Given the description of an element on the screen output the (x, y) to click on. 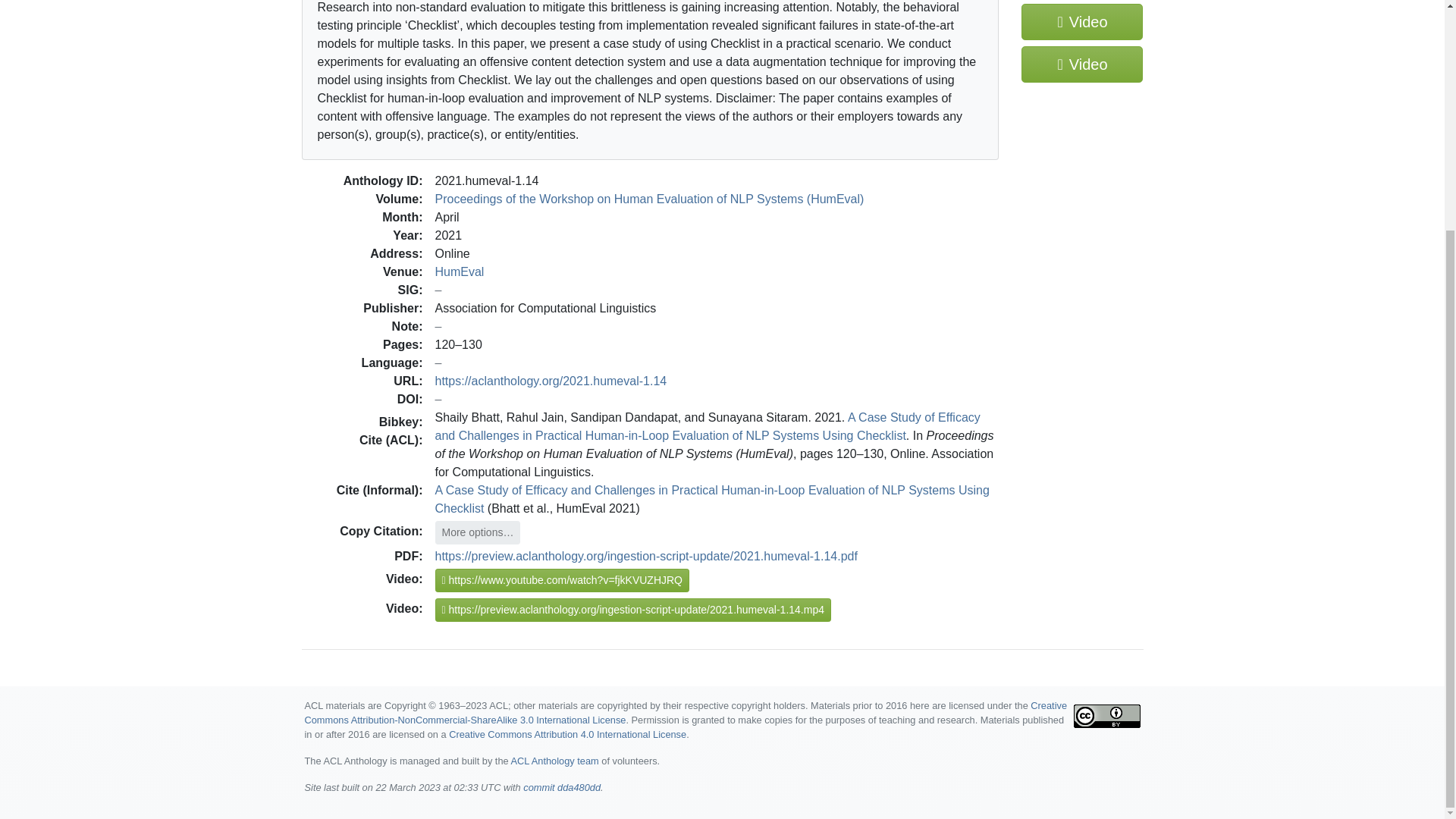
HumEval (459, 270)
Video (1082, 63)
Video (1082, 22)
Creative Commons Attribution 4.0 International License (566, 734)
